Given the description of an element on the screen output the (x, y) to click on. 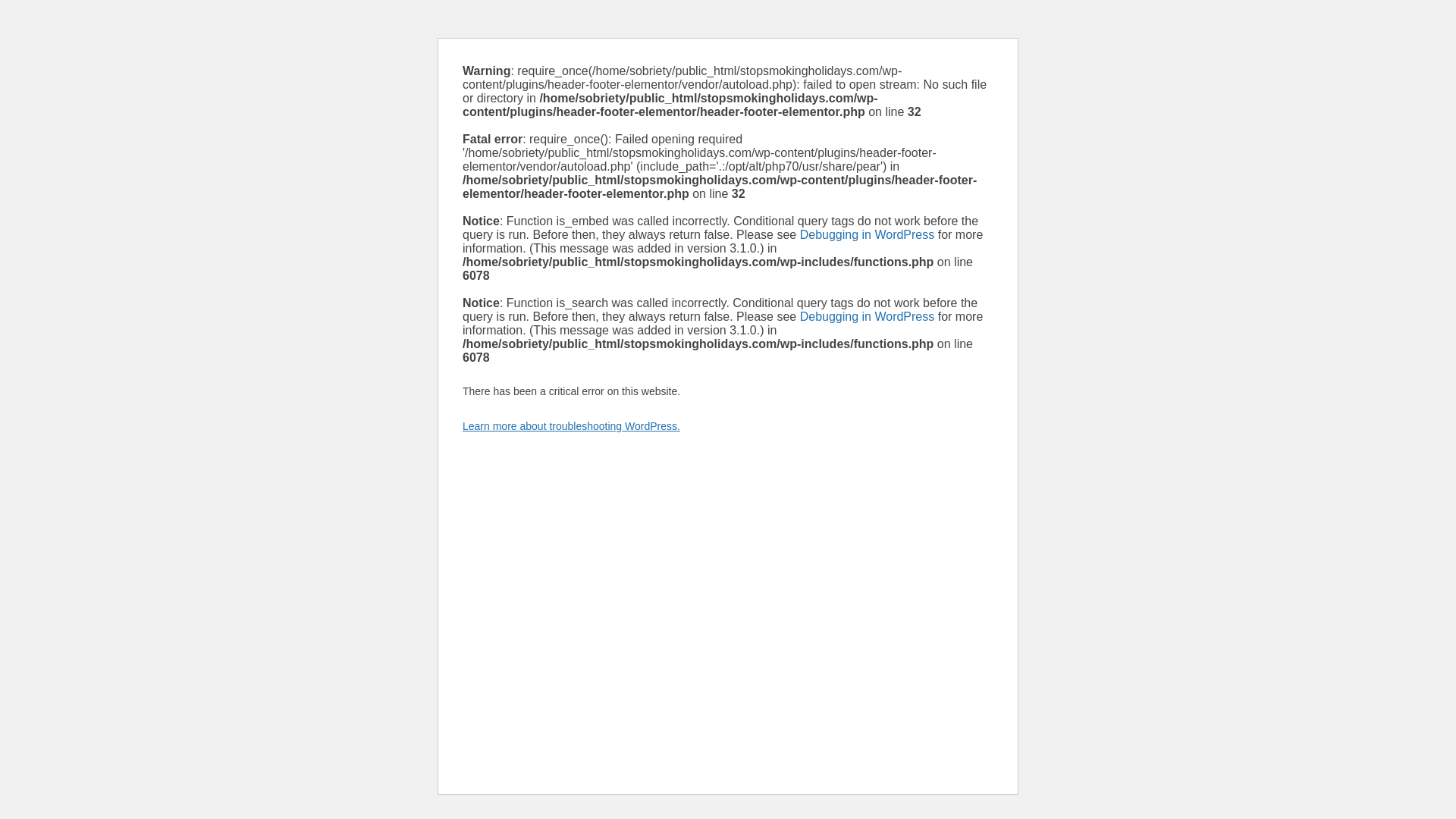
Debugging in WordPress (866, 316)
Learn more about troubleshooting WordPress. (571, 426)
Debugging in WordPress (866, 234)
